Given the description of an element on the screen output the (x, y) to click on. 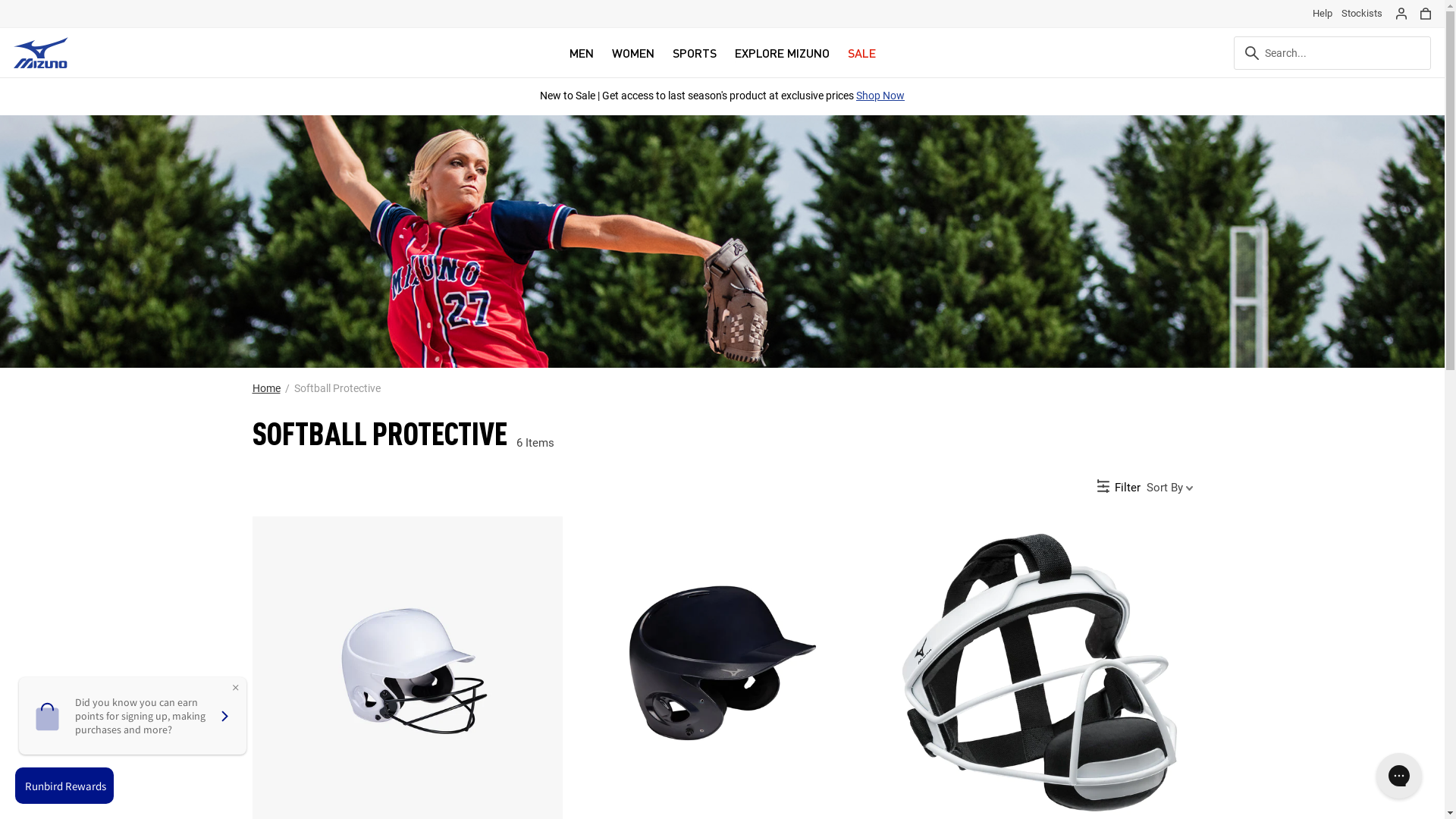
Home Element type: text (265, 388)
Help Element type: text (1322, 12)
LoyaltyLion beacon Element type: hover (67, 785)
Filters Element type: text (1120, 489)
Gorgias live chat messenger Element type: hover (1398, 775)
Stockists Element type: text (1361, 12)
More Info Element type: text (936, 95)
